Given the description of an element on the screen output the (x, y) to click on. 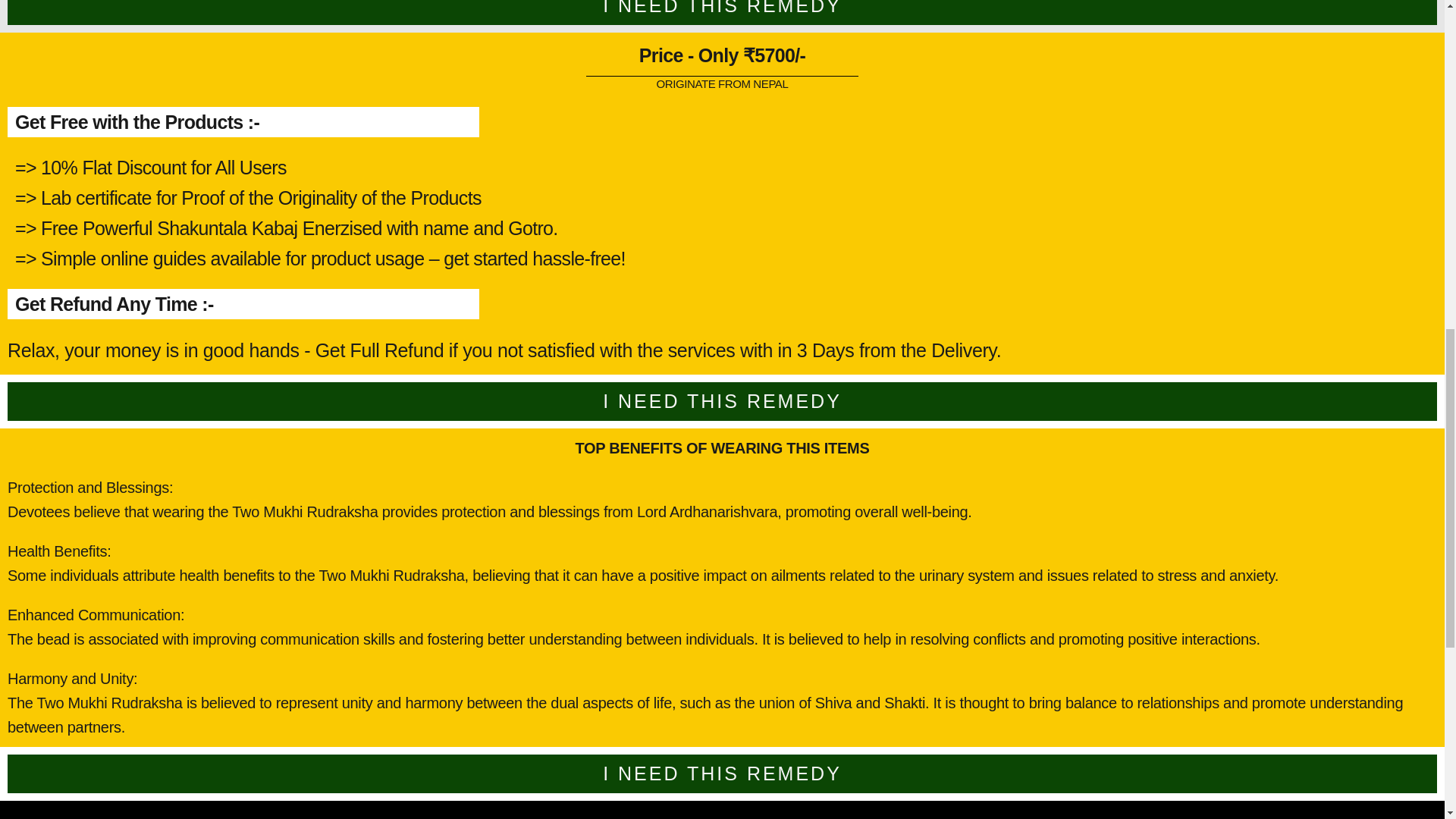
I NEED THIS REMEDY (721, 400)
I NEED THIS REMEDY (721, 772)
I NEED THIS REMEDY (721, 7)
